Given the description of an element on the screen output the (x, y) to click on. 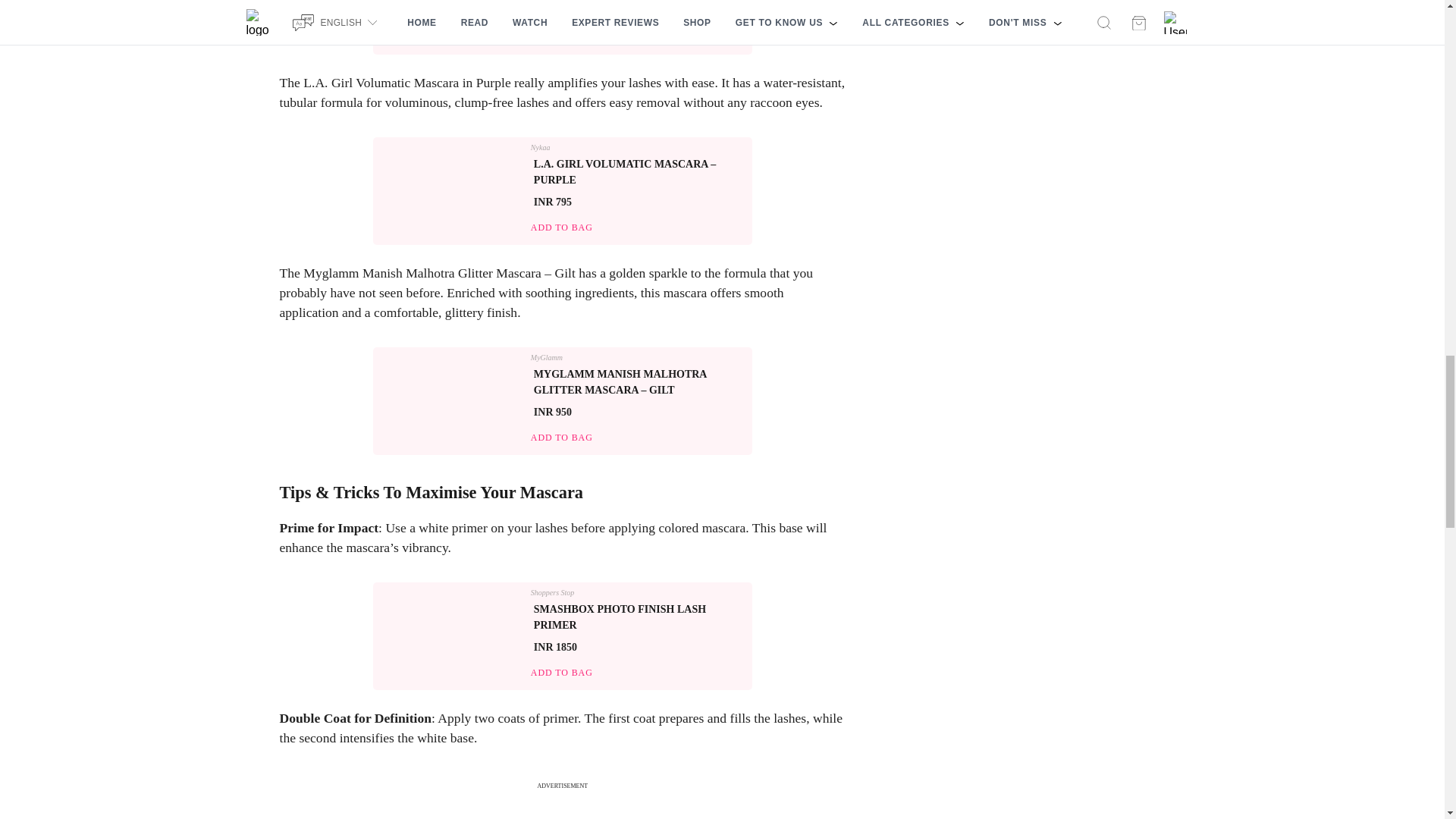
ADD TO BAG (561, 228)
ADD TO BAG (561, 672)
ADD TO BAG (561, 37)
ADD TO BAG (561, 437)
